Given the description of an element on the screen output the (x, y) to click on. 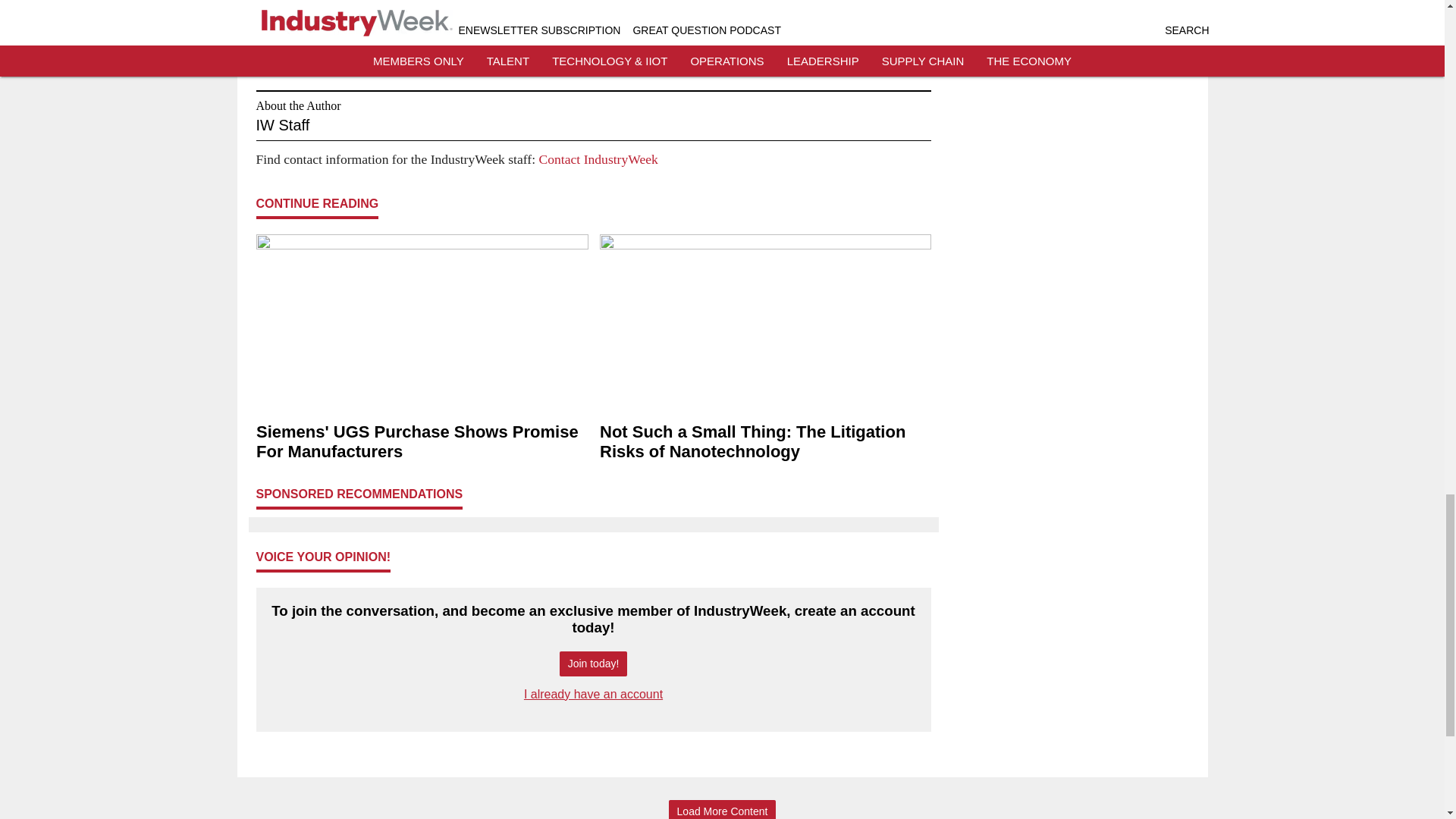
Contact IndustryWeek (598, 159)
I already have an account (593, 694)
Join today! (593, 663)
Siemens' UGS Purchase Shows Promise For Manufacturers (422, 441)
